Given the description of an element on the screen output the (x, y) to click on. 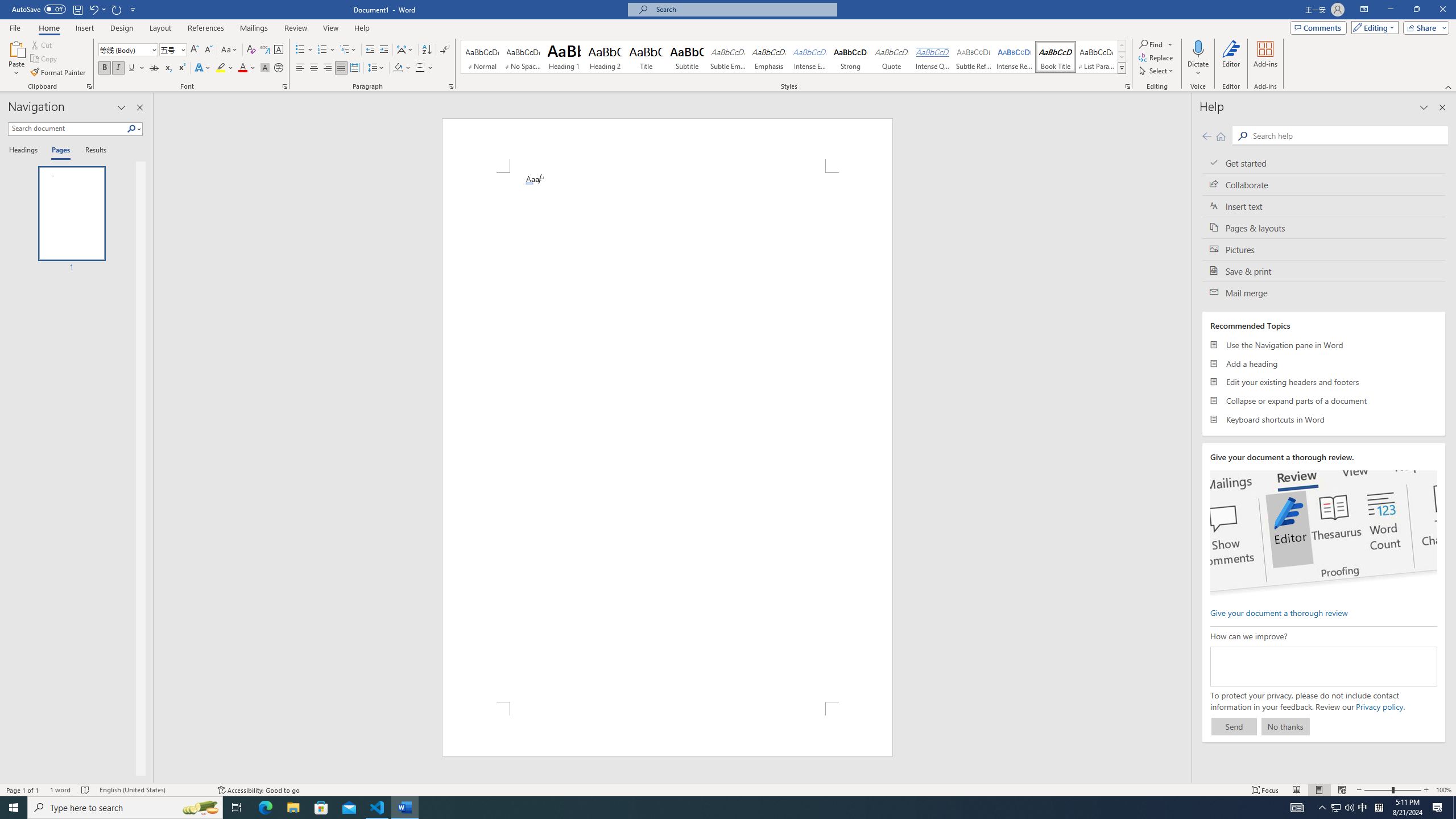
Select (1157, 69)
Emphasis (768, 56)
No thanks (1285, 726)
Collapse or expand parts of a document (1323, 400)
Intense Quote (932, 56)
